Given the description of an element on the screen output the (x, y) to click on. 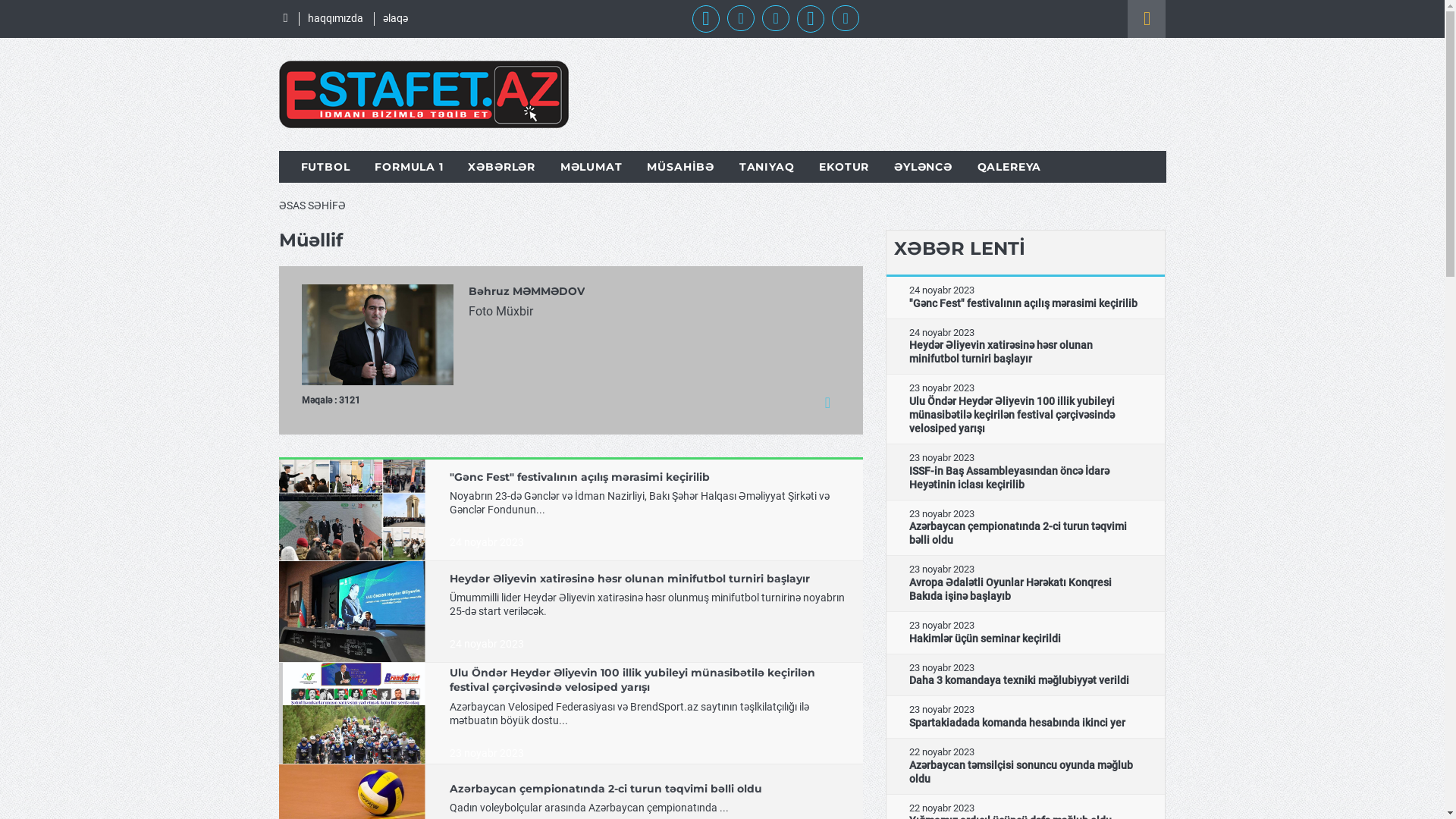
EKOTUR Element type: text (844, 166)
TANIYAQ Element type: text (766, 166)
23 noyabr 2023 Element type: text (486, 752)
24 noyabr 2023 Element type: text (486, 643)
FORMULA 1 Element type: text (408, 166)
QALEREYA Element type: text (1009, 166)
24 noyabr 2023 Element type: text (486, 542)
FUTBOL Element type: text (324, 166)
